Given the description of an element on the screen output the (x, y) to click on. 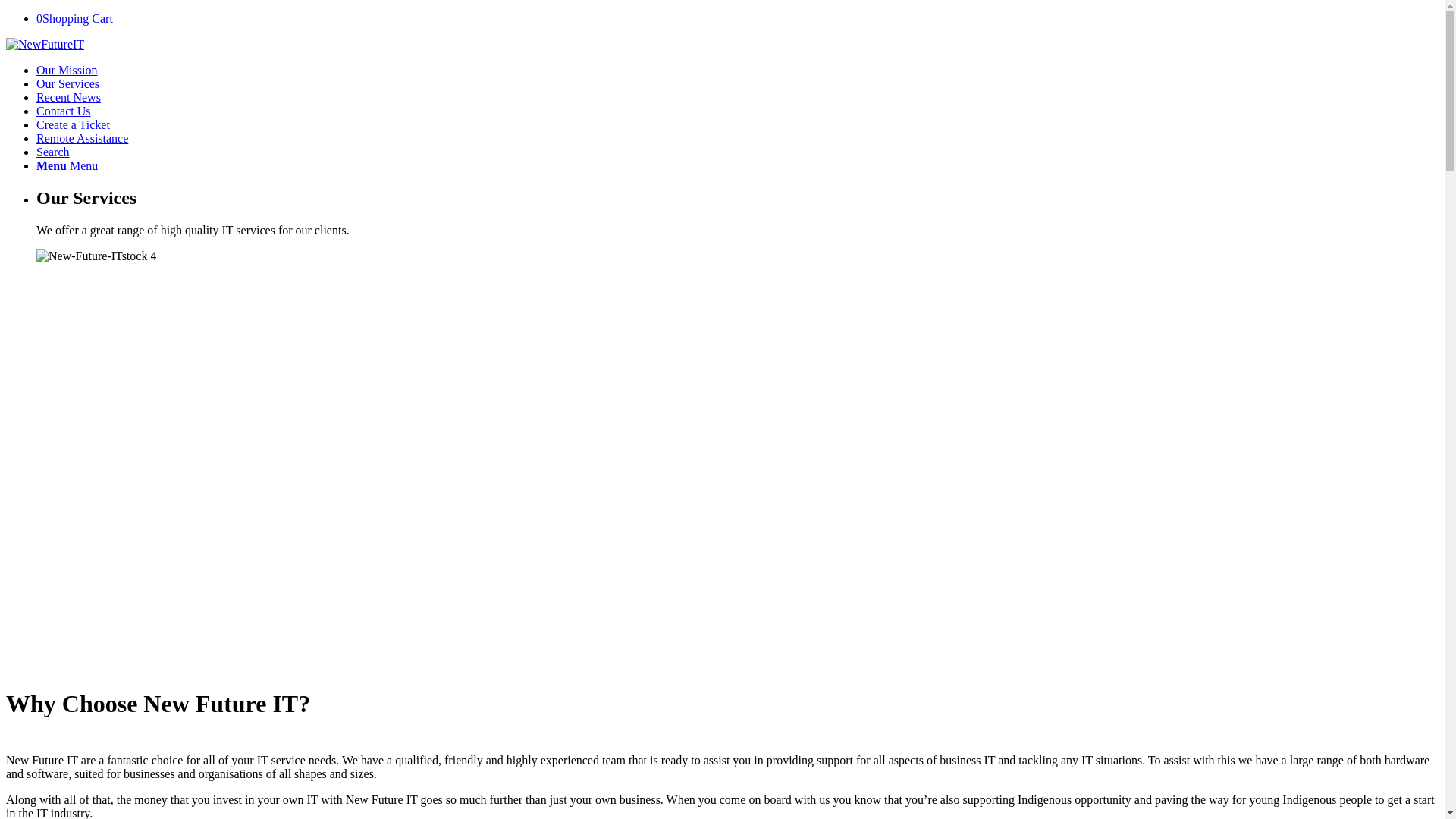
Our Mission Element type: text (66, 69)
Create a Ticket Element type: text (72, 124)
New-Future-ITstock4 Element type: hover (96, 256)
Search Element type: text (52, 151)
Remote Assistance Element type: text (82, 137)
Menu Menu Element type: text (66, 165)
0Shopping Cart Element type: text (74, 18)
Our Services Element type: text (67, 83)
Contact Us Element type: text (63, 110)
Recent News Element type: text (68, 97)
